Given the description of an element on the screen output the (x, y) to click on. 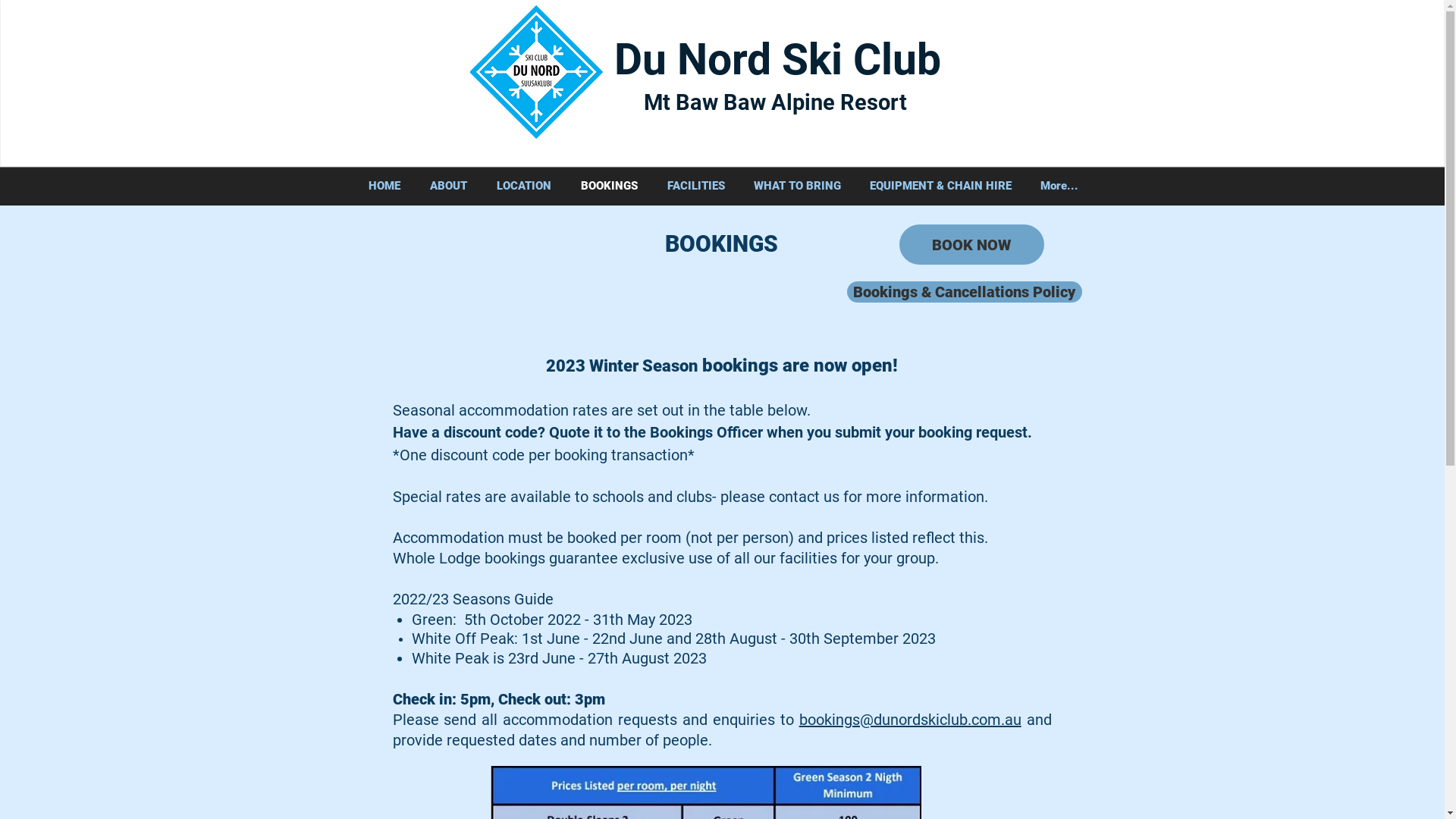
LOCATION Element type: text (524, 186)
BOOK NOW Element type: text (971, 244)
bookings@dunordskiclub.com.au Element type: text (910, 719)
WHAT TO BRING Element type: text (796, 186)
FACILITIES Element type: text (695, 186)
Bookings & Cancellations Policy Element type: text (963, 291)
HOME Element type: text (383, 186)
BOOKINGS Element type: text (608, 186)
EQUIPMENT & CHAIN HIRE Element type: text (940, 186)
ABOUT Element type: text (448, 186)
